Given the description of an element on the screen output the (x, y) to click on. 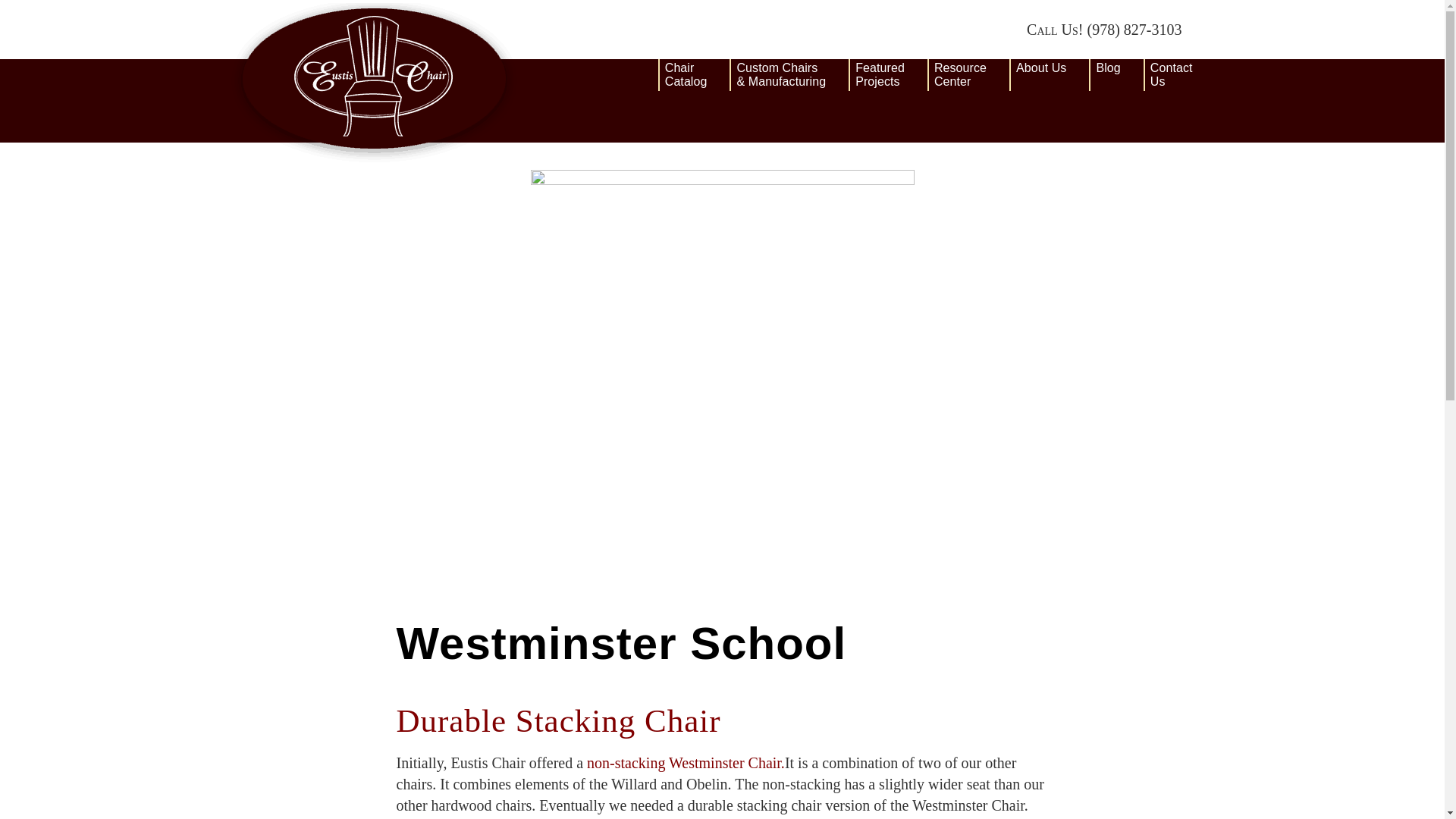
Chair: Westminster; Hardwood - Eustis Chair (685, 762)
